Given the description of an element on the screen output the (x, y) to click on. 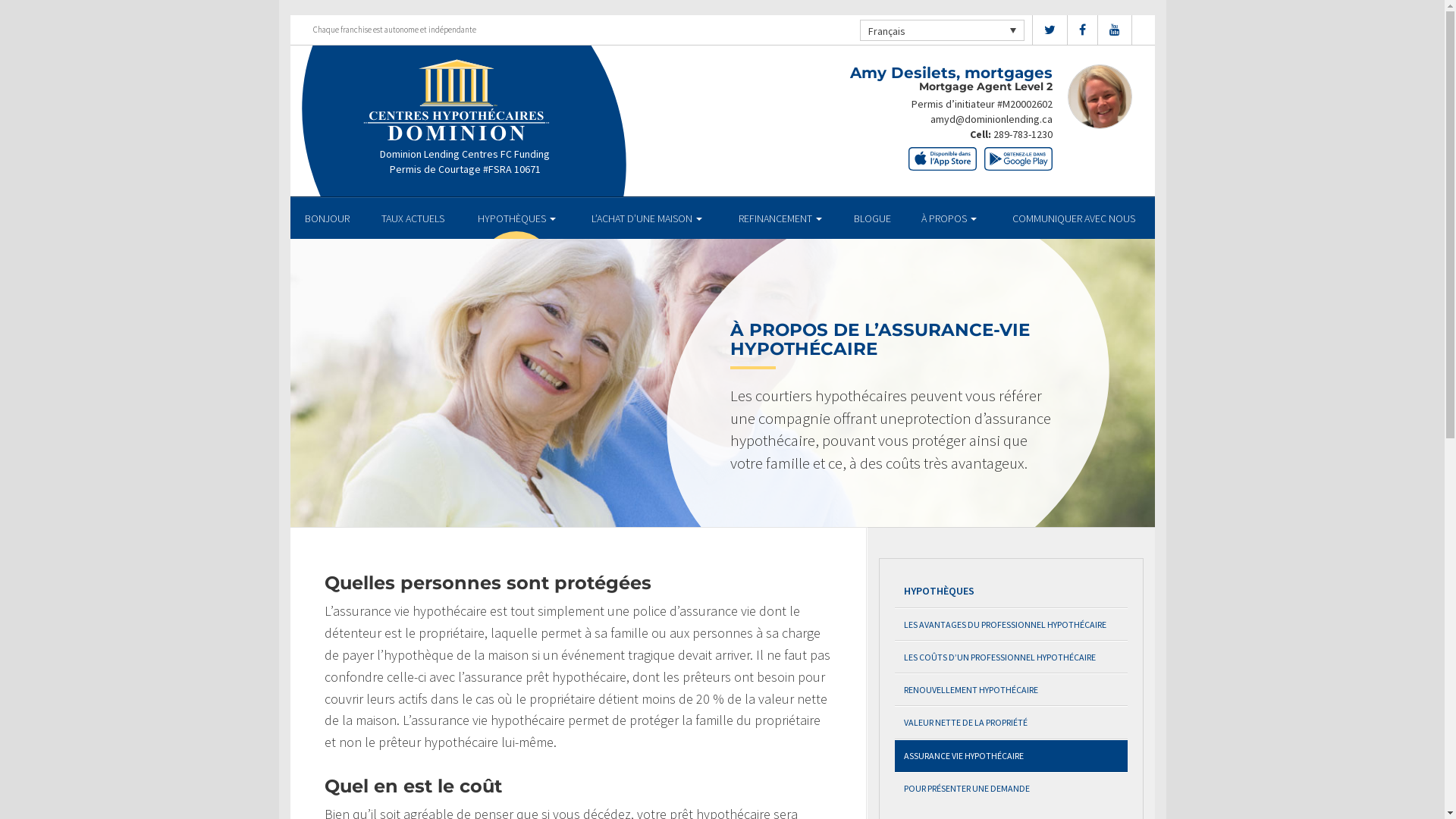
BLOGUE Element type: text (872, 217)
TAUX ACTUELS Element type: text (412, 217)
COMMUNIQUER AVEC NOUS Element type: text (1073, 217)
289-783-1230 Element type: text (1022, 134)
BONJOUR Element type: text (326, 217)
amyd@dominionlending.ca Element type: text (990, 118)
REFINANCEMENT Element type: text (780, 217)
